Given the description of an element on the screen output the (x, y) to click on. 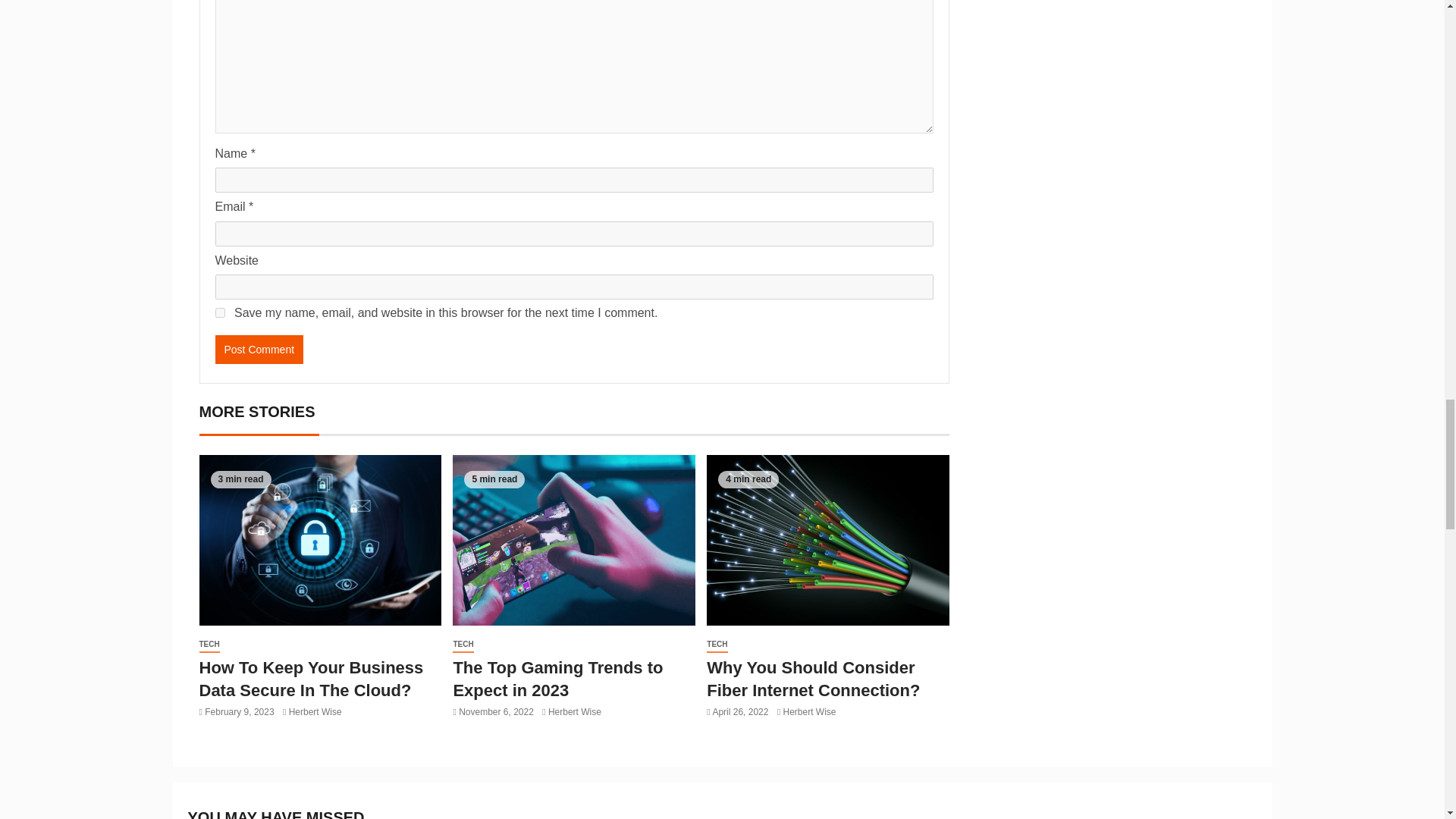
Post Comment (259, 348)
yes (220, 312)
Post Comment (259, 348)
TECH (208, 644)
